Given the description of an element on the screen output the (x, y) to click on. 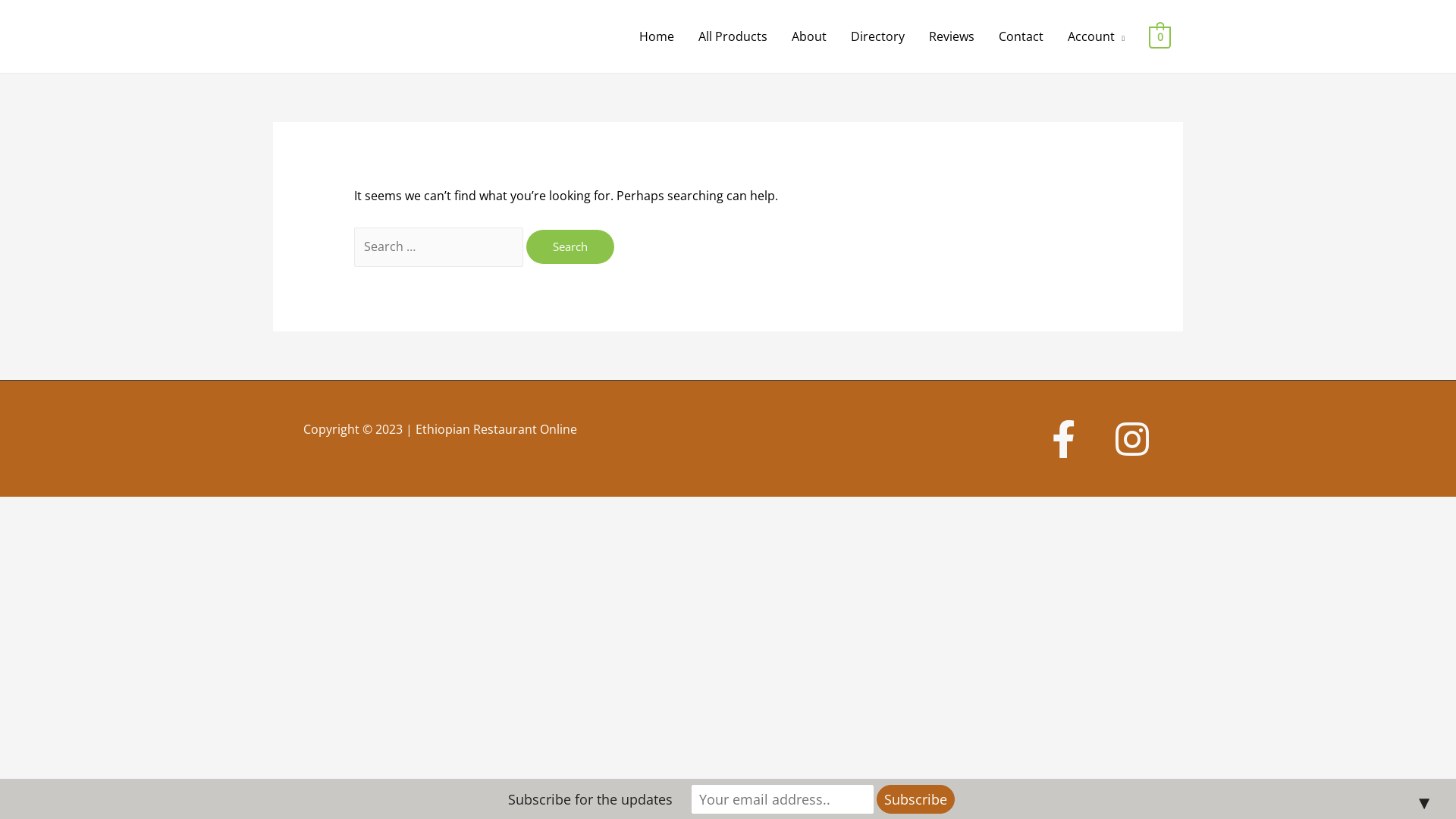
About Element type: text (808, 36)
Directory Element type: text (877, 36)
Reviews Element type: text (951, 36)
Home Element type: text (656, 36)
Account Element type: text (1096, 36)
Subscribe Element type: text (915, 798)
All Products Element type: text (732, 36)
Search Element type: text (570, 246)
Contact Element type: text (1020, 36)
0 Element type: text (1159, 36)
